Given the description of an element on the screen output the (x, y) to click on. 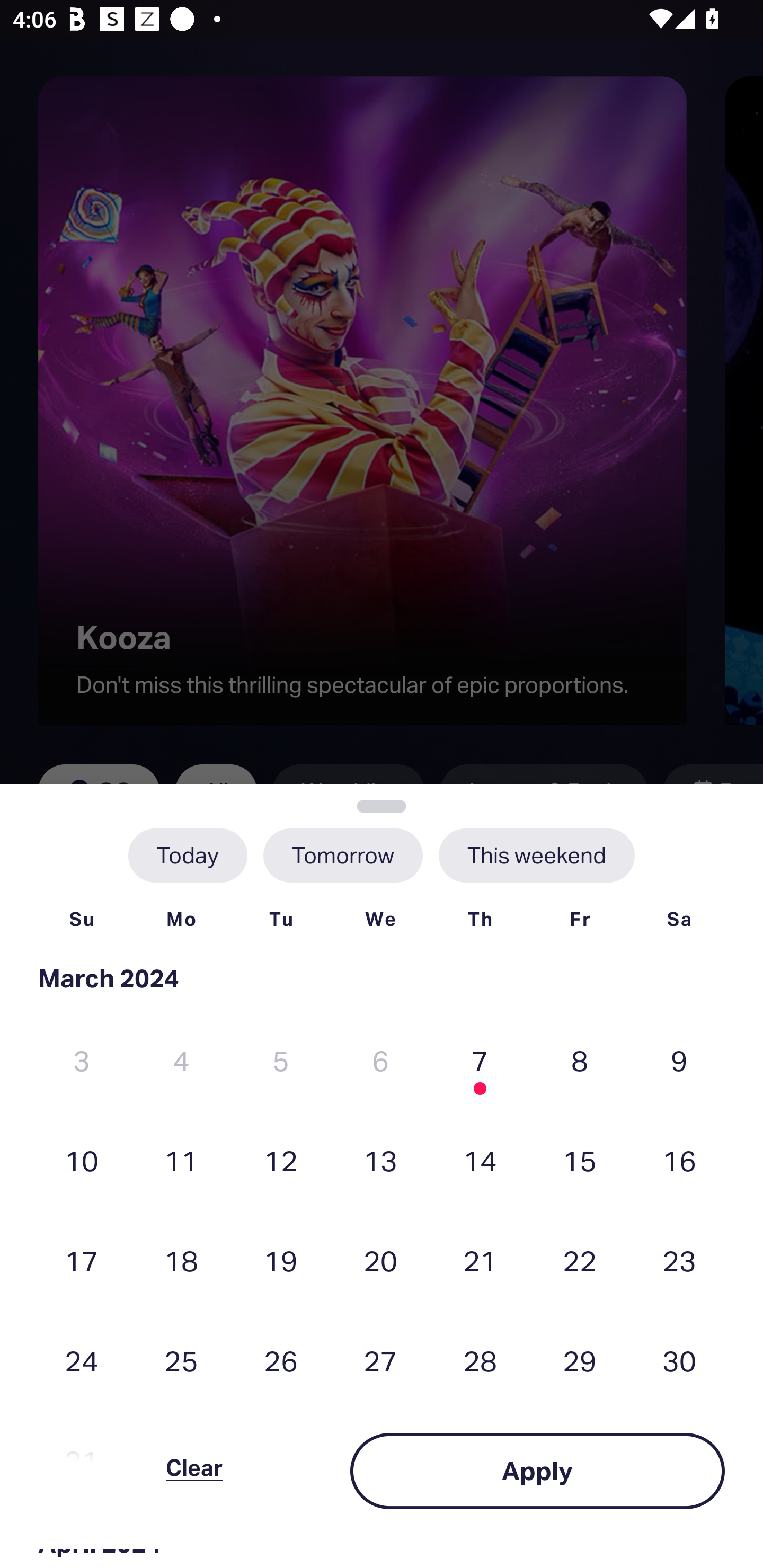
Today (187, 854)
Tomorrow (342, 854)
This weekend (536, 854)
3 (81, 1060)
4 (181, 1060)
5 (280, 1060)
6 (380, 1060)
7 (479, 1060)
8 (579, 1060)
9 (678, 1060)
10 (81, 1160)
11 (181, 1160)
12 (280, 1160)
13 (380, 1160)
14 (479, 1160)
15 (579, 1160)
16 (678, 1160)
17 (81, 1260)
18 (181, 1260)
19 (280, 1260)
20 (380, 1260)
21 (479, 1260)
22 (579, 1260)
23 (678, 1260)
24 (81, 1360)
25 (181, 1360)
26 (280, 1360)
27 (380, 1360)
28 (479, 1360)
29 (579, 1360)
30 (678, 1360)
Clear (194, 1470)
Apply (537, 1470)
